Given the description of an element on the screen output the (x, y) to click on. 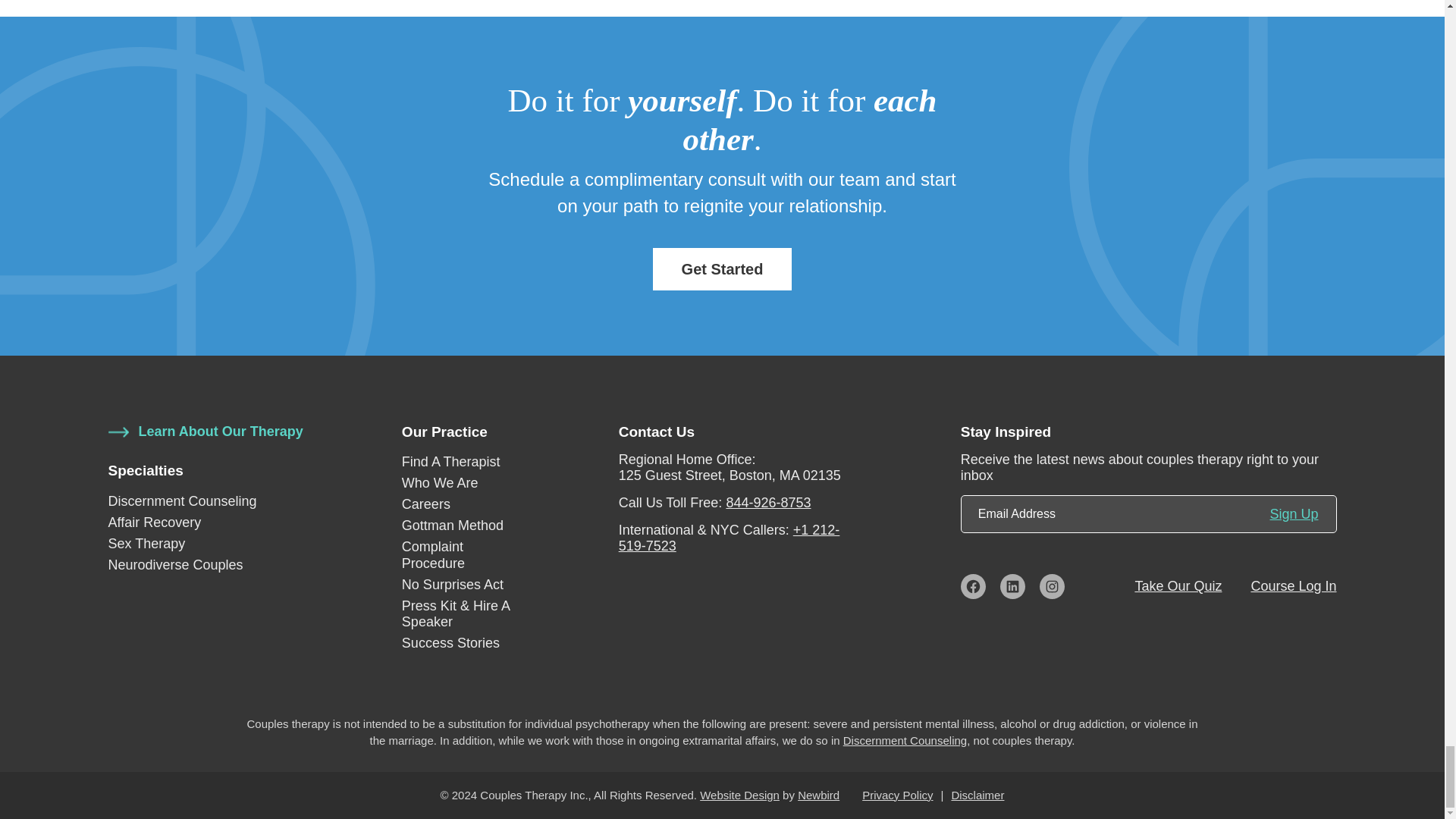
Sign Up (1293, 514)
